Given the description of an element on the screen output the (x, y) to click on. 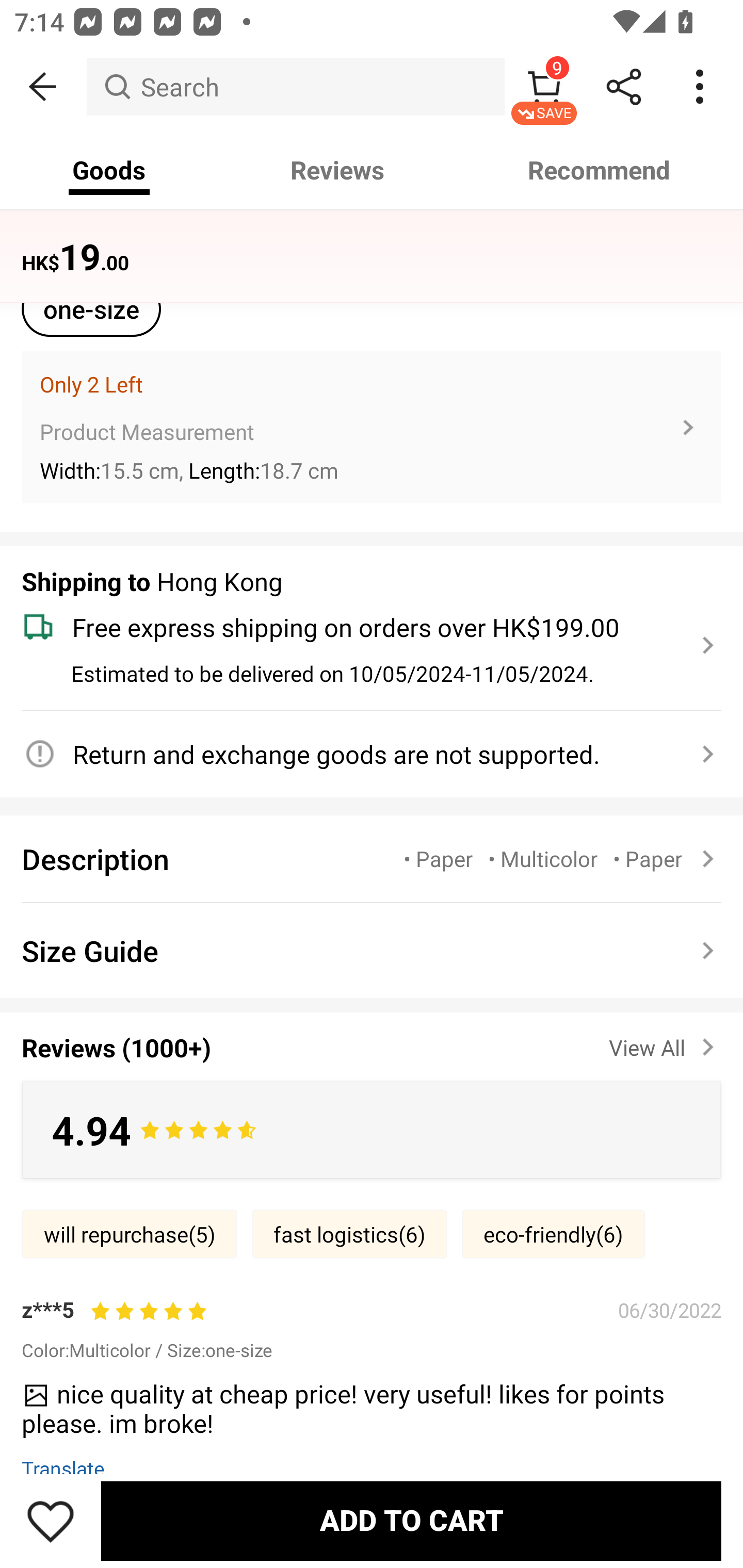
BACK (43, 86)
9 SAVE (543, 87)
Search (295, 87)
Goods (109, 170)
Reviews (337, 170)
Recommend (599, 170)
Return and exchange goods are not supported. (359, 754)
Size Guide (371, 950)
Reviews‎ (1000‎+) View All 4.94 Average rating4.94 (371, 1090)
View All (664, 1043)
will repurchase(5) (129, 1233)
fast logistics(6) (349, 1233)
eco-friendly(6) (553, 1233)
Translate (62, 1468)
ADD TO CART (411, 1520)
Save (50, 1520)
